Given the description of an element on the screen output the (x, y) to click on. 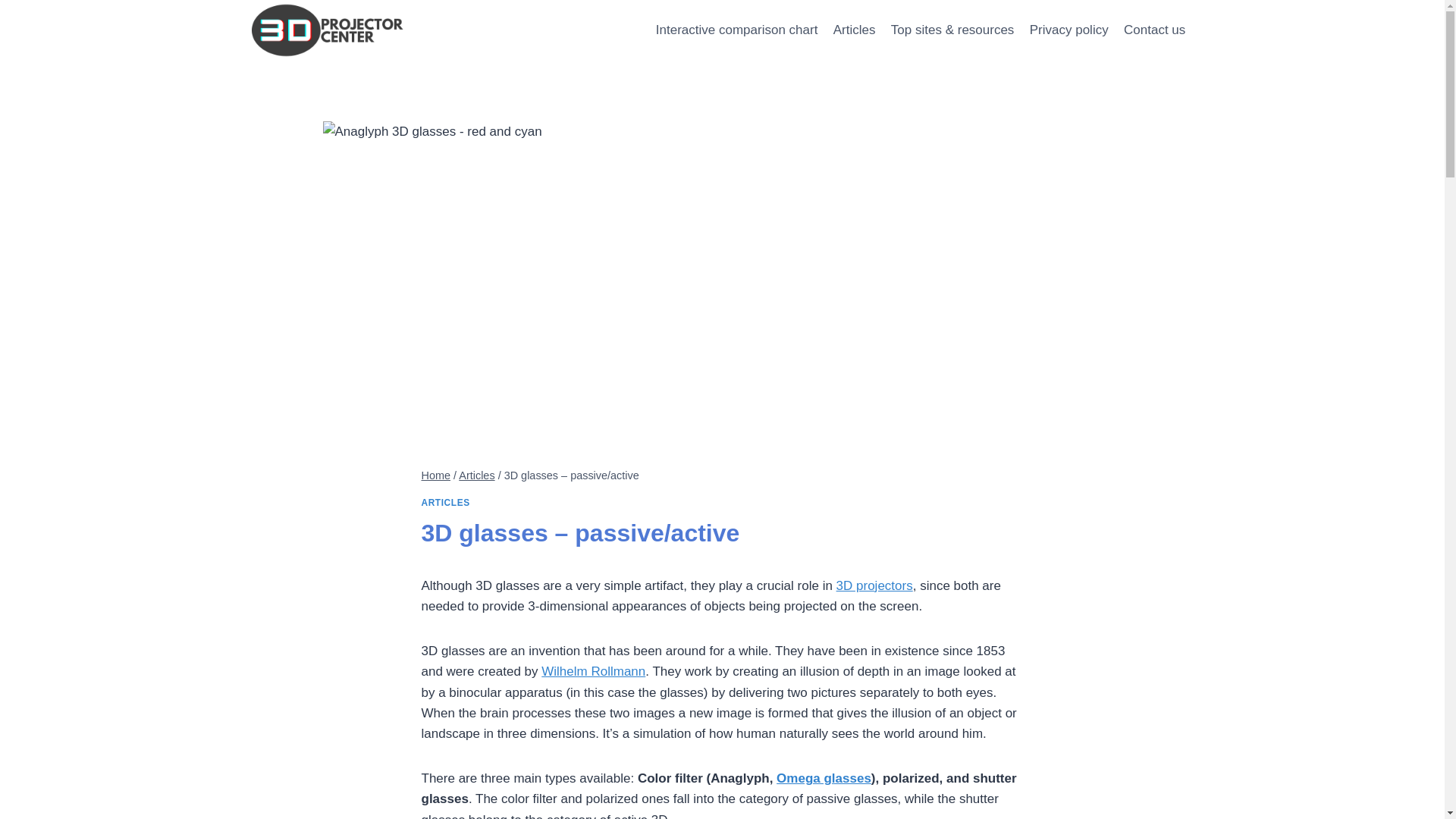
Contact us Element type: text (1154, 30)
Wilhelm Rollmann Element type: text (593, 671)
Privacy policy Element type: text (1069, 30)
Articles Element type: text (854, 30)
Home Element type: text (436, 475)
ARTICLES Element type: text (445, 502)
Interactive comparison chart Element type: text (736, 30)
Top sites & resources Element type: text (952, 30)
Omega glasses Element type: text (823, 778)
Articles Element type: text (476, 475)
3D projectors Element type: text (874, 585)
